Given the description of an element on the screen output the (x, y) to click on. 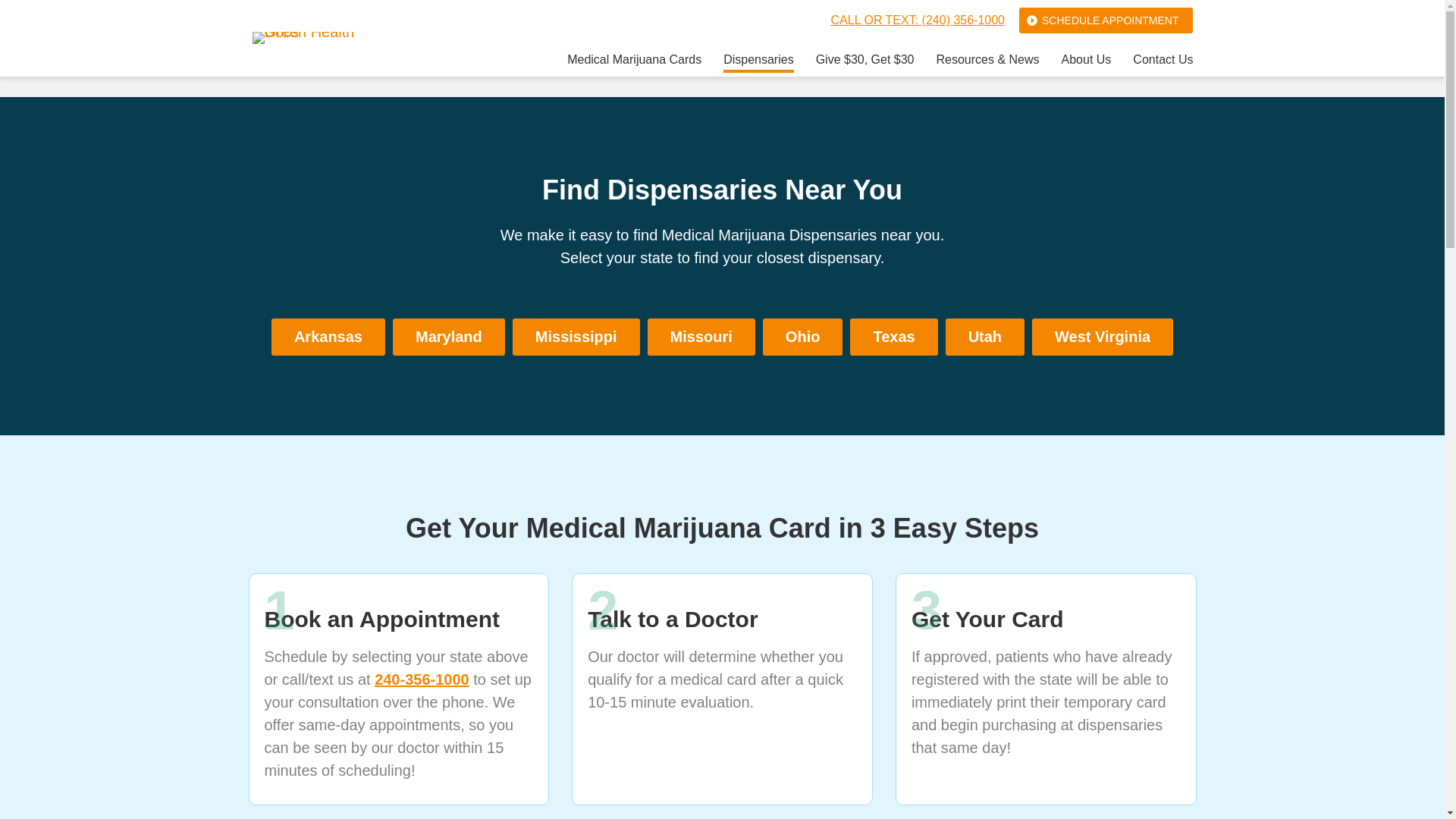
Missouri (701, 336)
Contact Us (1162, 62)
Utah (984, 336)
Mississippi (576, 336)
240-356-1000 (421, 678)
Dispensaries (758, 62)
Arkansas (327, 336)
Maryland (449, 336)
Texas (893, 336)
SCHEDULE APPOINTMENT (1105, 20)
